Given the description of an element on the screen output the (x, y) to click on. 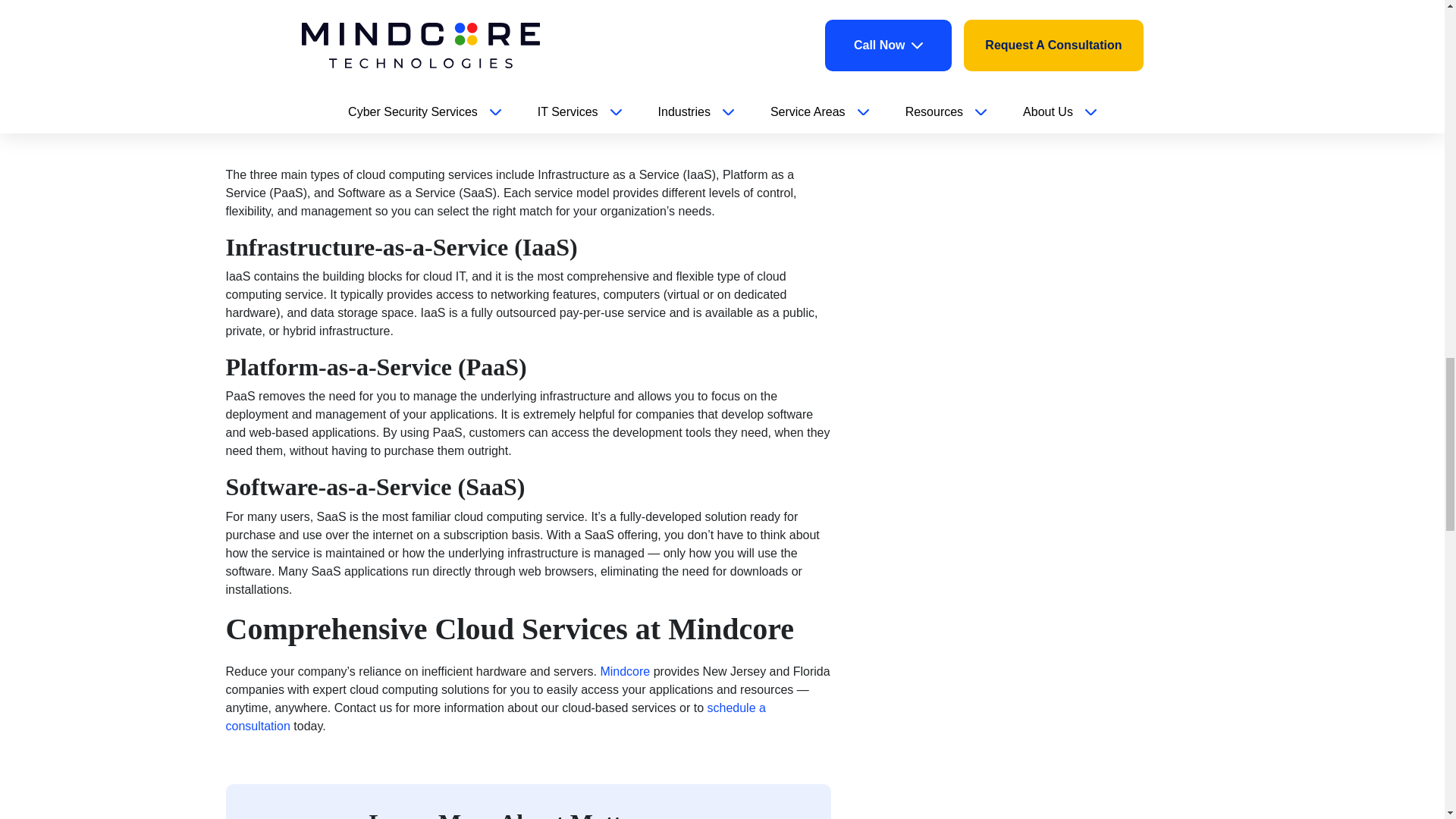
4 Types of Cloud Computing 9 (338, 96)
